Given the description of an element on the screen output the (x, y) to click on. 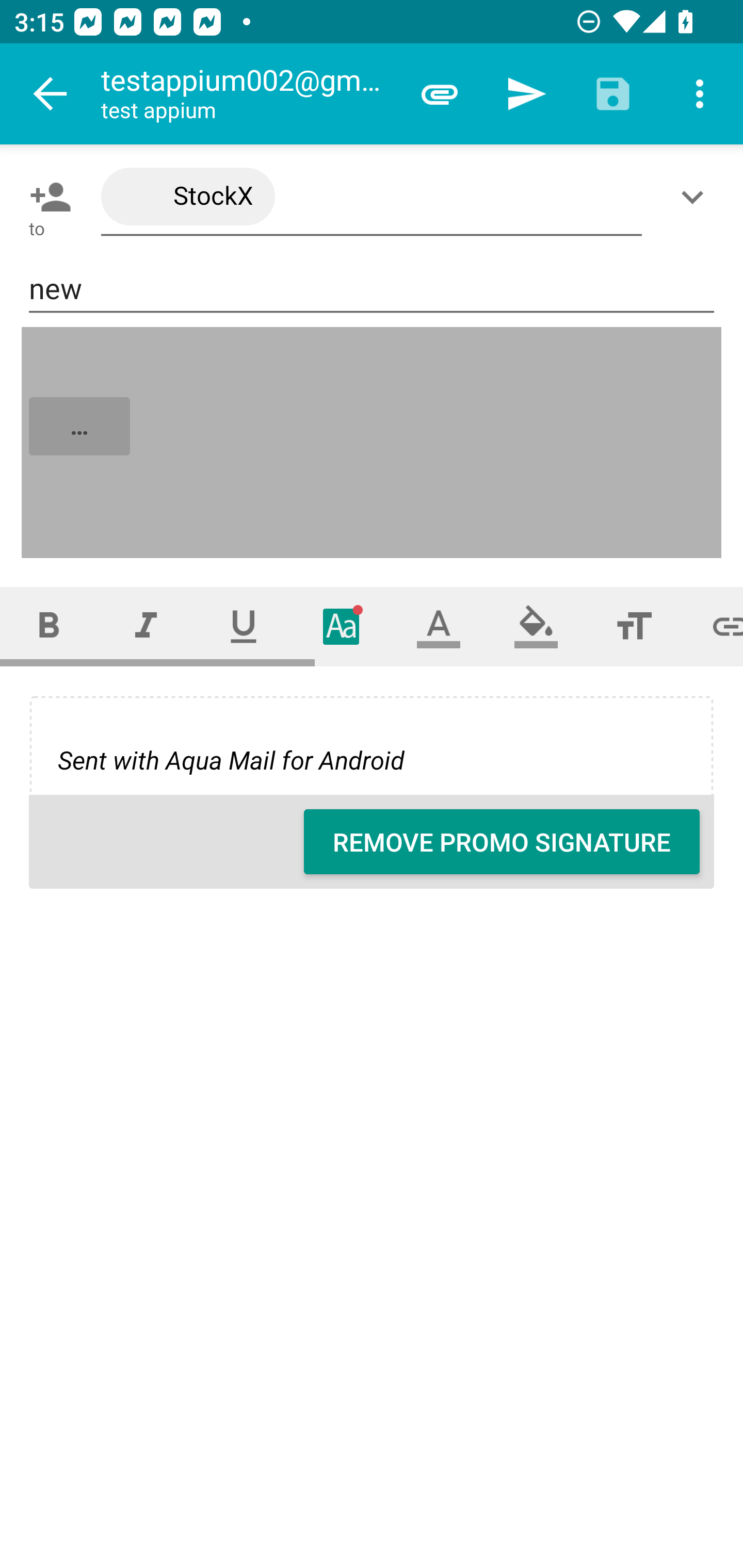
Navigate up (50, 93)
testappium002@gmail.com test appium (248, 93)
Attach (439, 93)
Send (525, 93)
Save (612, 93)
More options (699, 93)
StockX <noreply@stockx.com>,  (371, 197)
Pick contact: To (46, 196)
Show/Add CC/BCC (696, 196)
new (371, 288)

…
 (372, 442)
Bold (48, 626)
Italic (145, 626)
Underline (243, 626)
Typeface (font) (341, 626)
Text color (438, 626)
Fill color (536, 626)
Font size (633, 626)
REMOVE PROMO SIGNATURE (501, 841)
